Given the description of an element on the screen output the (x, y) to click on. 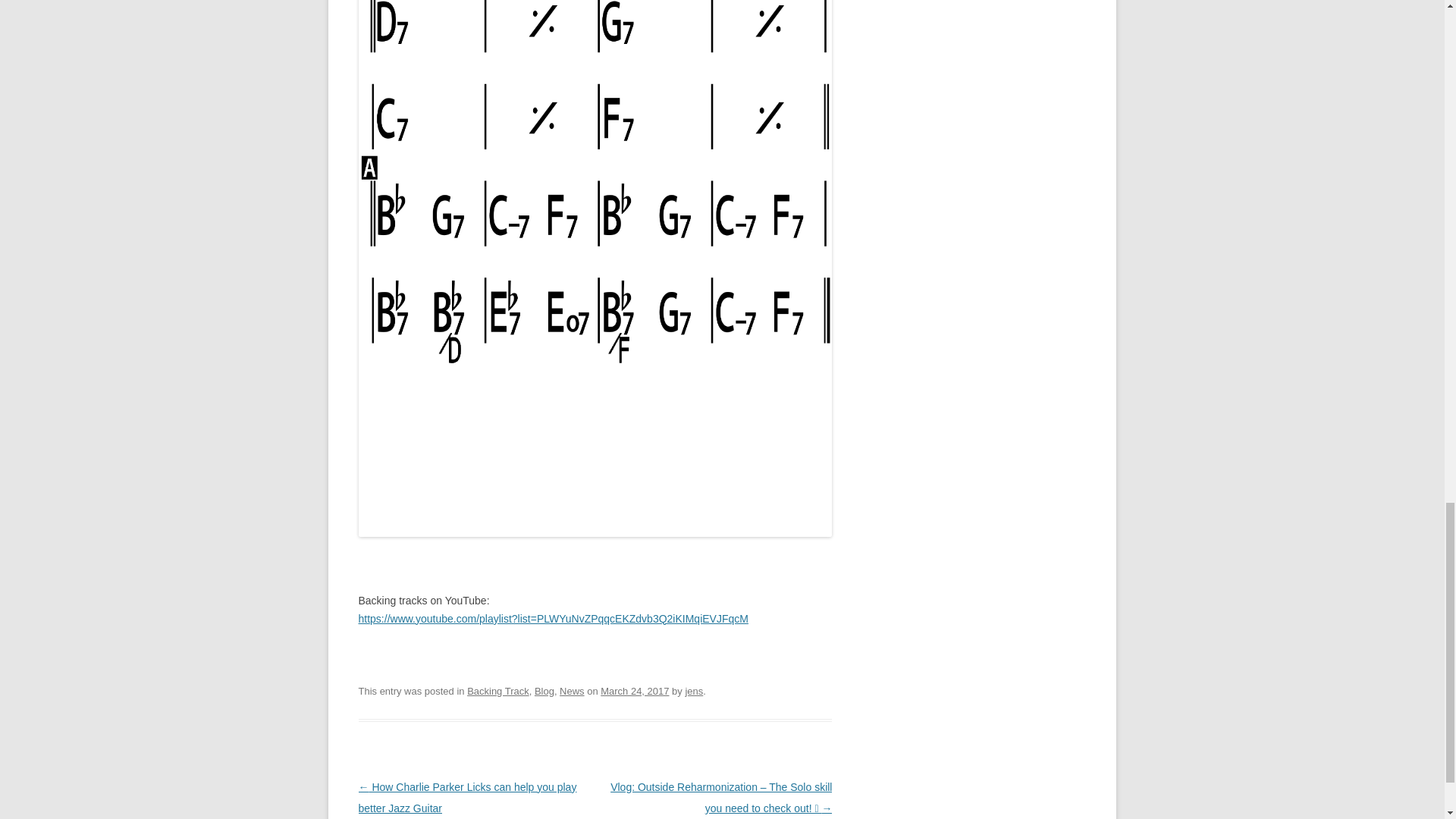
Blog (544, 690)
Backing Track (498, 690)
jens (693, 690)
March 24, 2017 (633, 690)
News (571, 690)
View all posts by jens (693, 690)
20:38 (633, 690)
